Given the description of an element on the screen output the (x, y) to click on. 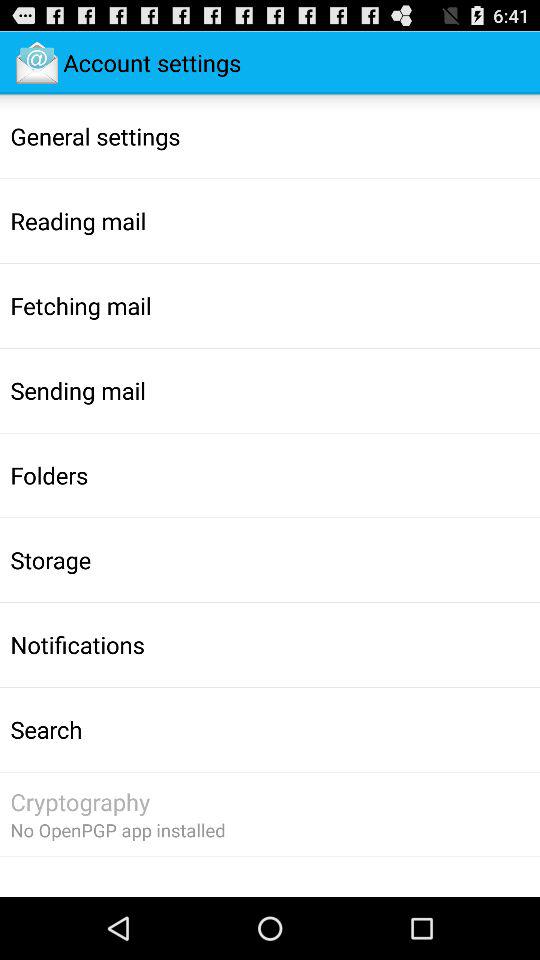
jump until folders (49, 475)
